Given the description of an element on the screen output the (x, y) to click on. 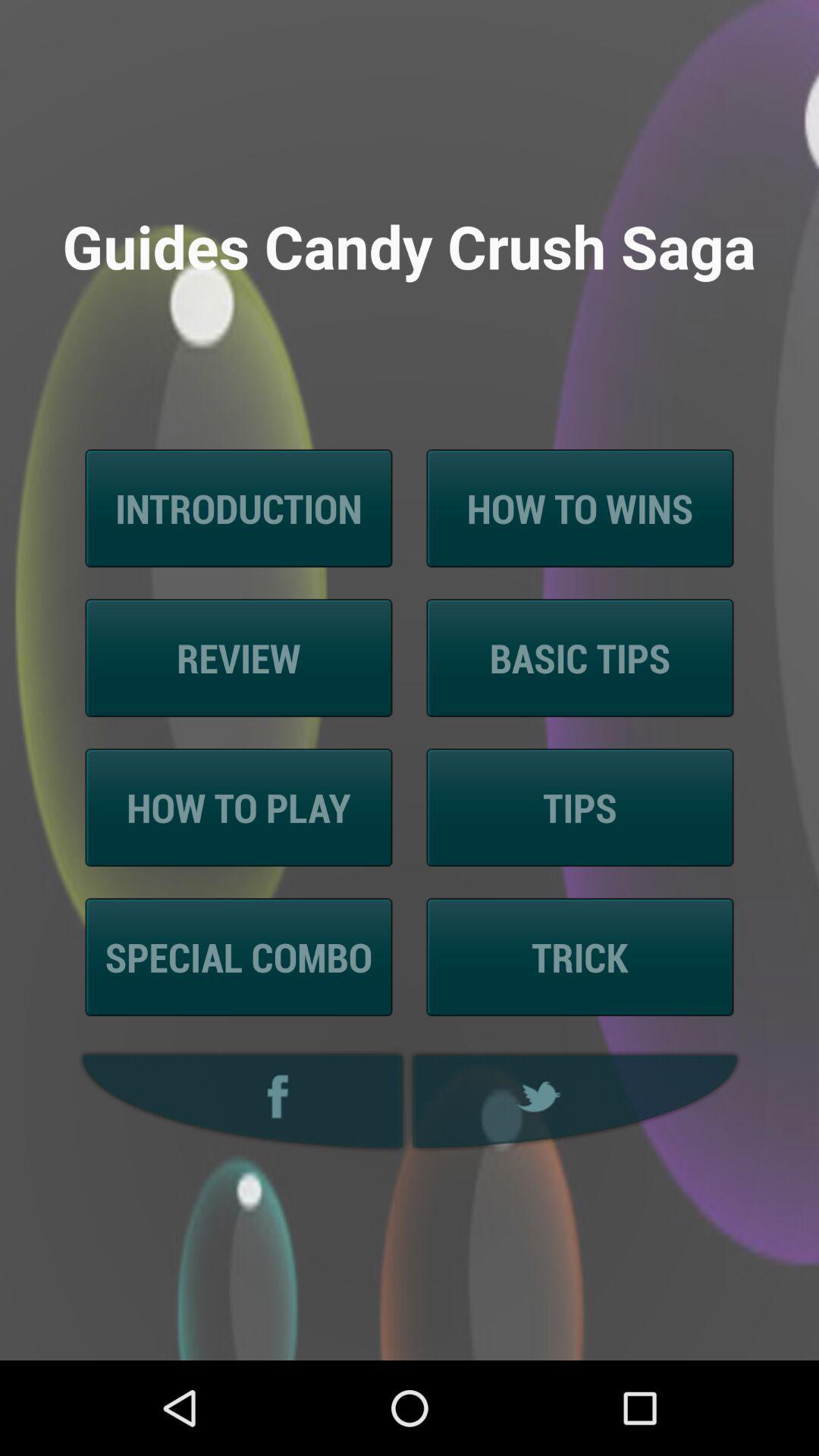
press item next to trick item (238, 957)
